Given the description of an element on the screen output the (x, y) to click on. 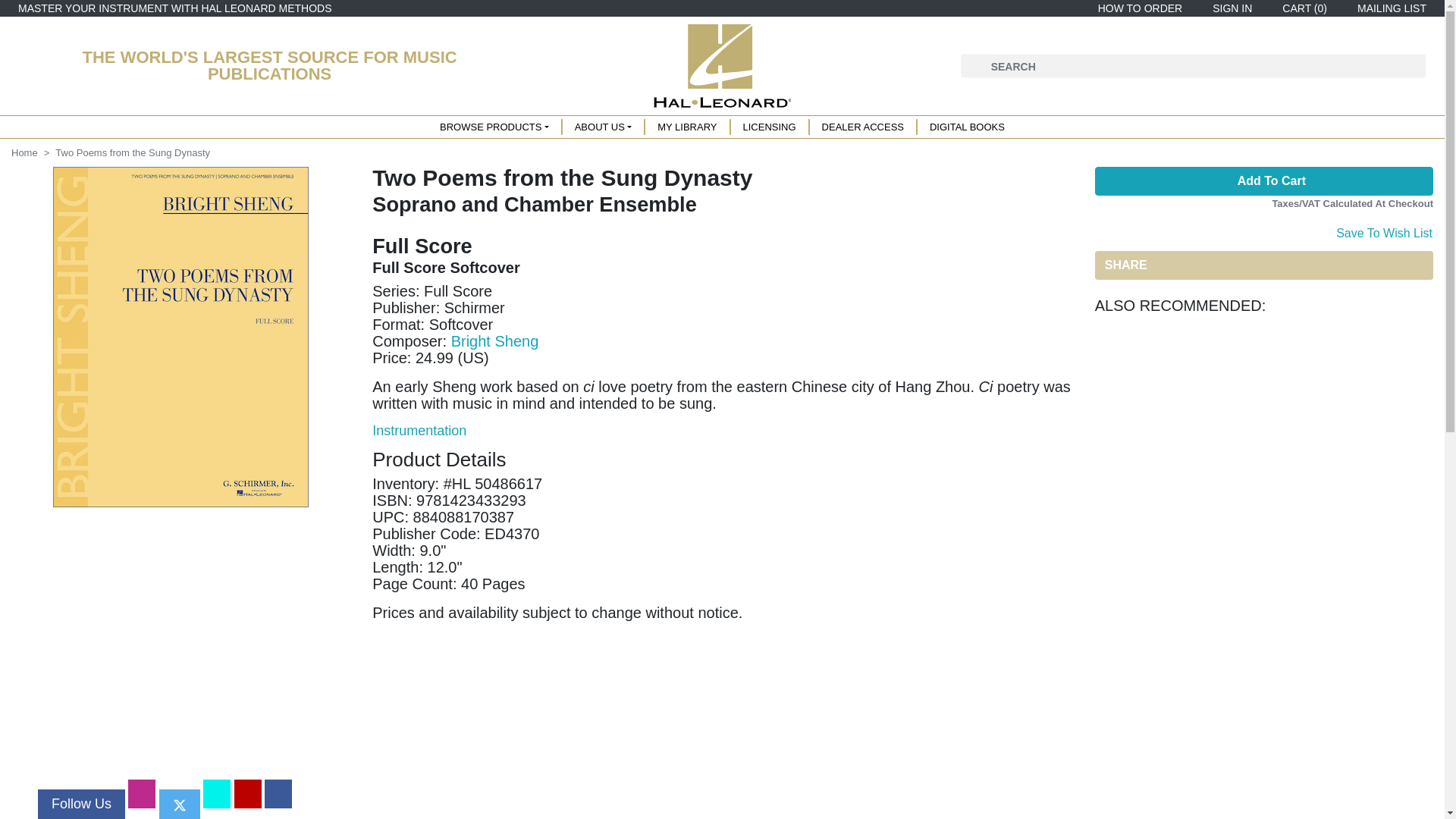
Add to Cart (1263, 181)
HOW TO ORDER (1137, 8)
MAILING LIST (1388, 8)
Add to Wish List (1383, 231)
SIGN IN (1229, 8)
MASTER YOUR INSTRUMENT WITH HAL LEONARD METHODS (174, 8)
